Given the description of an element on the screen output the (x, y) to click on. 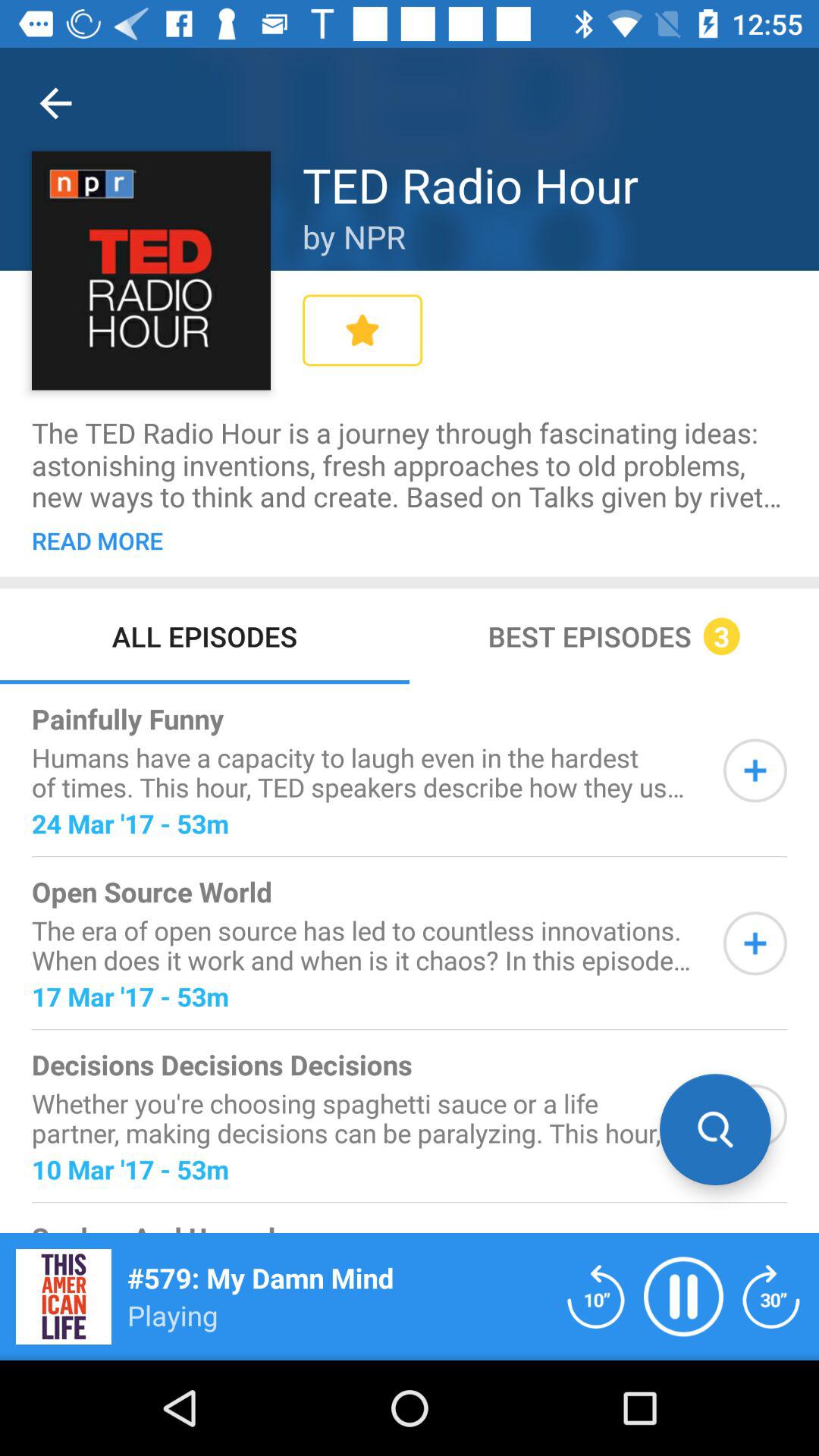
add episode (755, 770)
